Given the description of an element on the screen output the (x, y) to click on. 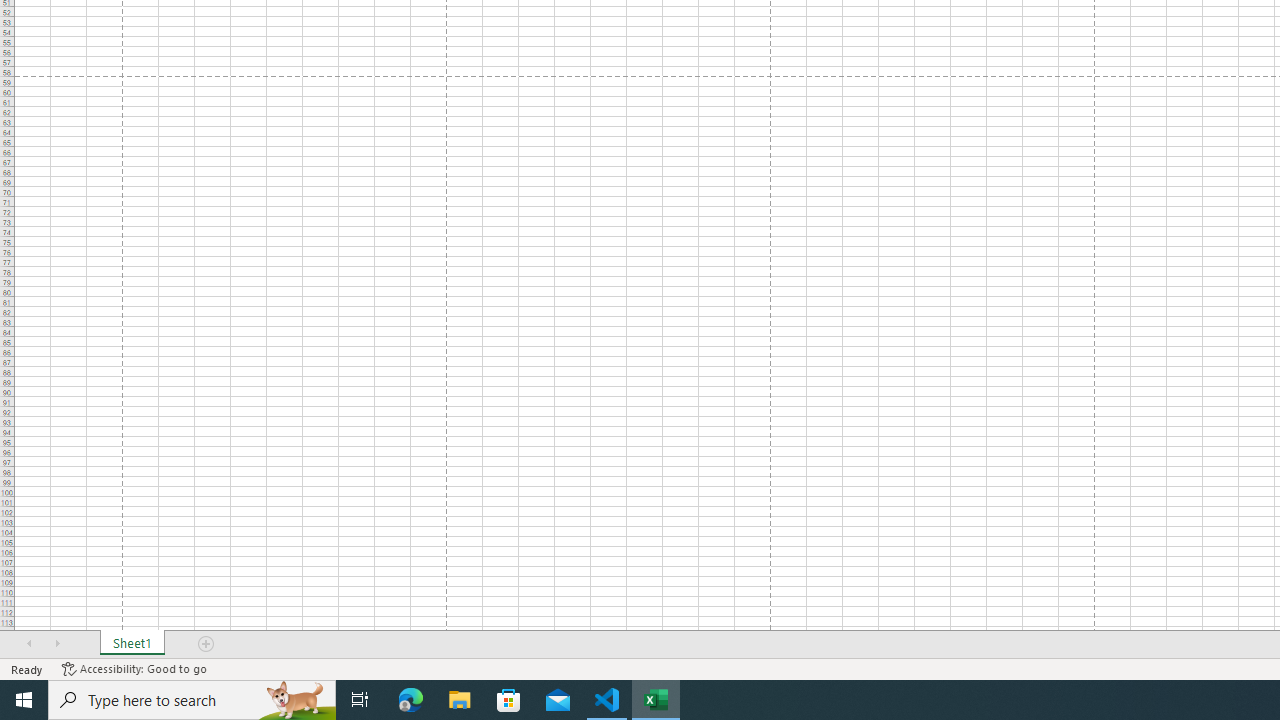
Sheet1 (132, 644)
Add Sheet (207, 644)
Scroll Left (29, 644)
Scroll Right (57, 644)
Accessibility Checker Accessibility: Good to go (134, 668)
